Given the description of an element on the screen output the (x, y) to click on. 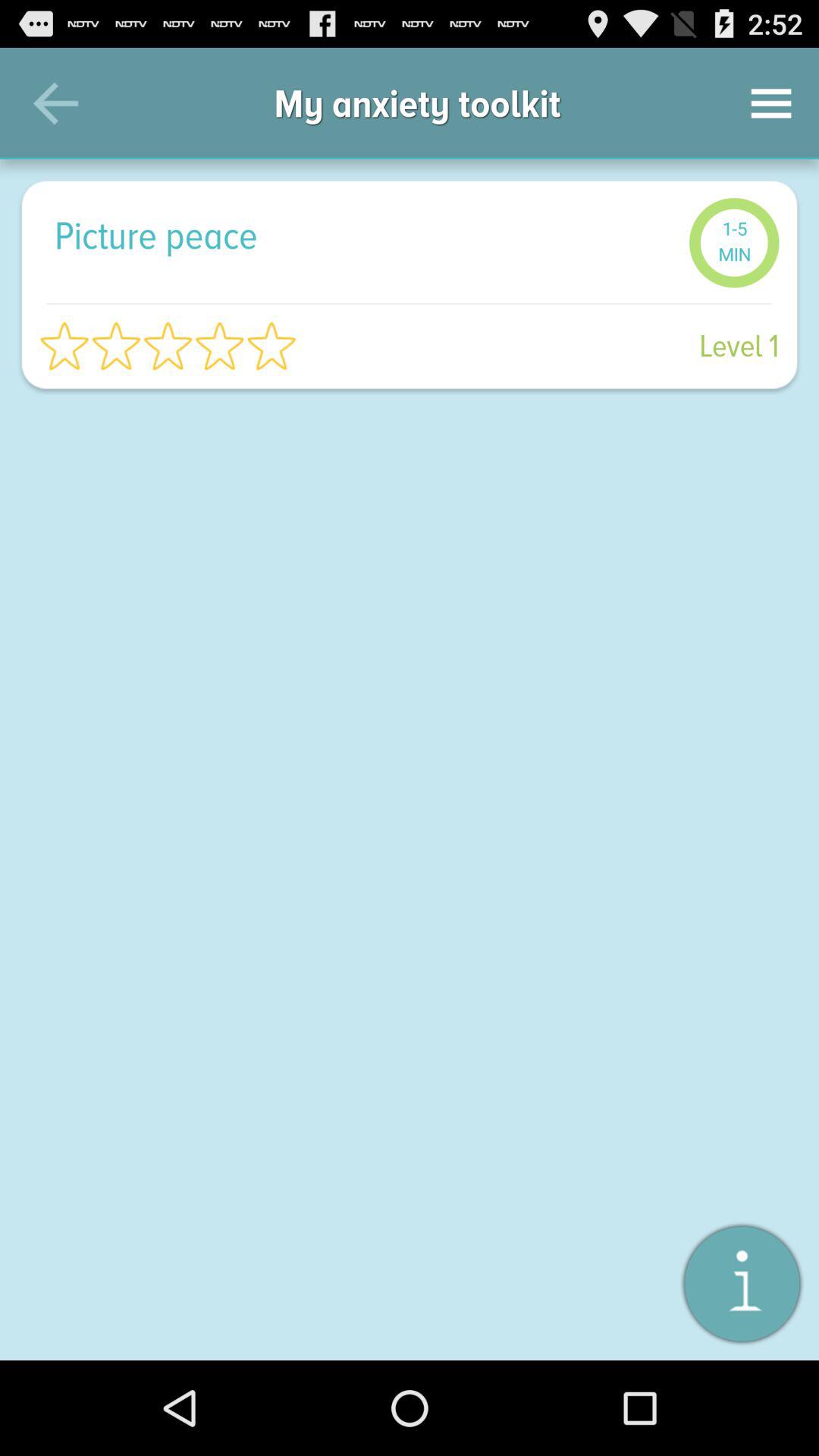
open the icon above picture peace icon (55, 103)
